Given the description of an element on the screen output the (x, y) to click on. 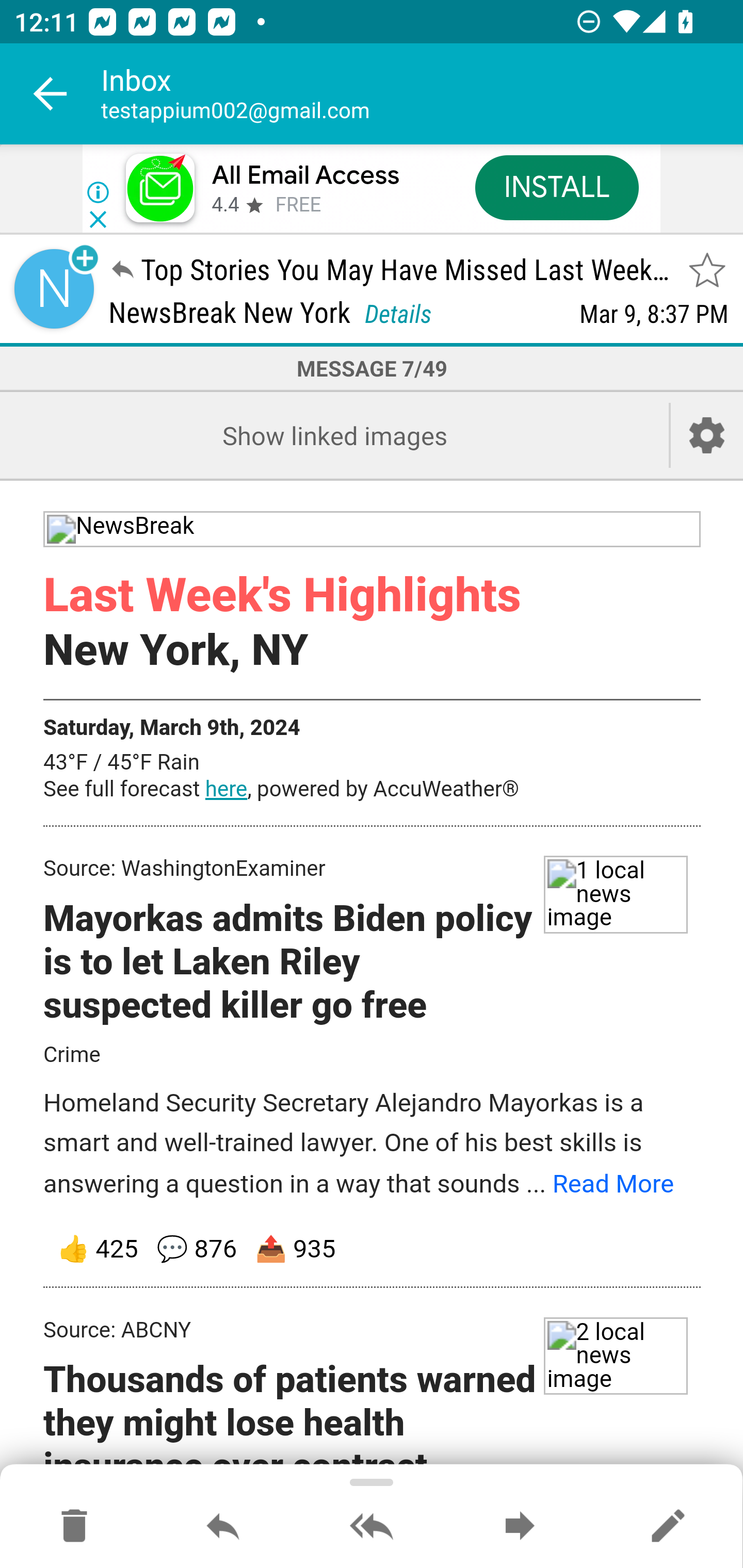
Navigate up (50, 93)
Inbox testappium002@gmail.com (422, 93)
INSTALL (556, 187)
All Email Access (305, 175)
4.4 (224, 204)
FREE (298, 204)
Sender contact button (53, 289)
Show linked images (334, 435)
Account setup (706, 435)
here (225, 789)
👍 425   💬 876   📤 935 (372, 1250)
Move to Deleted (74, 1527)
Reply (222, 1527)
Reply all (371, 1527)
Forward (519, 1527)
Reply as new (667, 1527)
